Given the description of an element on the screen output the (x, y) to click on. 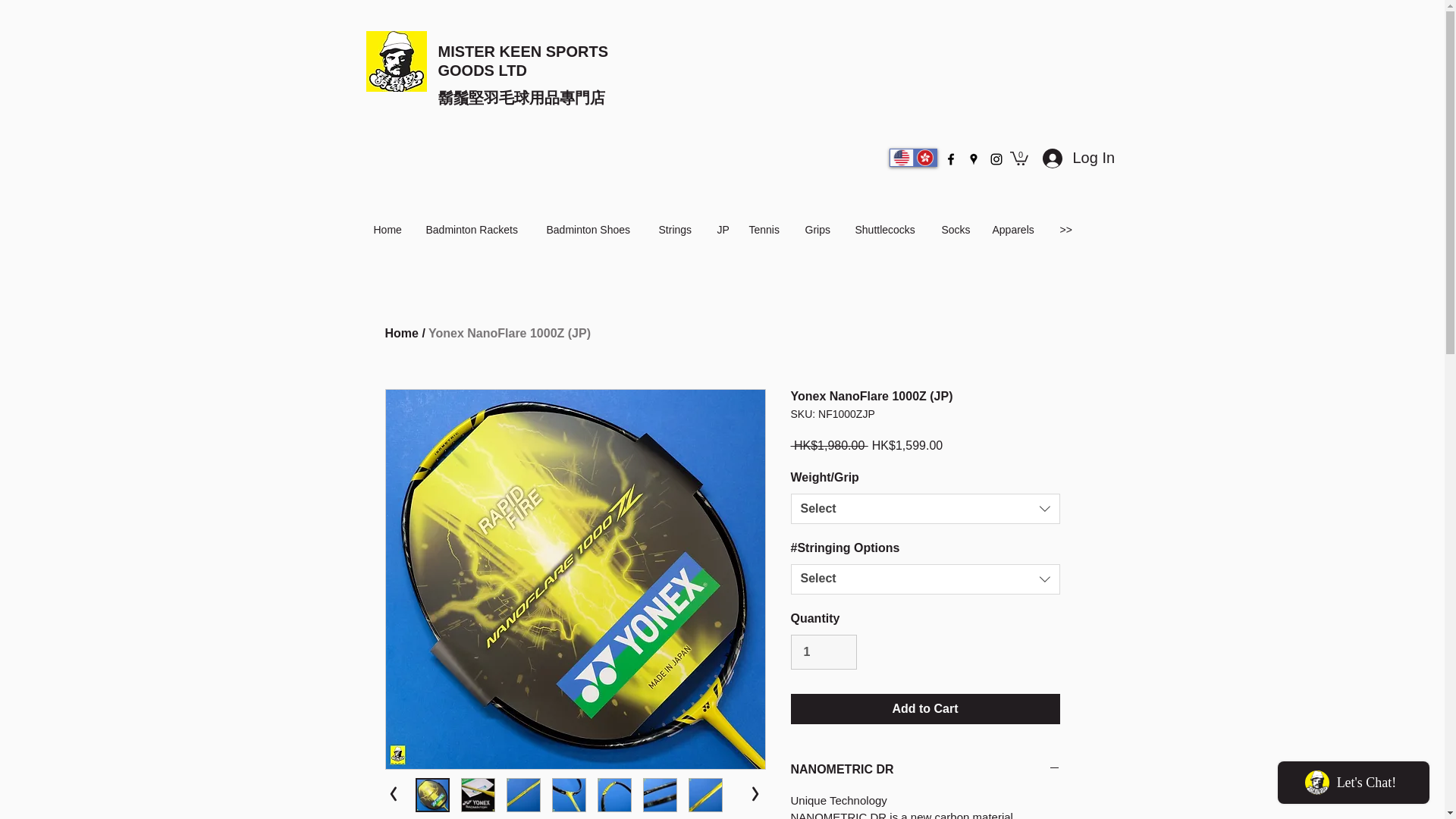
1 (823, 651)
Badminton Shoes (594, 229)
Badminton Rackets (478, 229)
Log In (1061, 158)
Tennis (769, 229)
MISTER KEEN SPORTS GOODS LTD (523, 60)
Grips (822, 229)
JP (725, 229)
Home (391, 229)
0 (1018, 157)
0 (1018, 157)
Shuttlecocks (890, 229)
Apparels (1017, 229)
Socks (959, 229)
Strings (679, 229)
